Given the description of an element on the screen output the (x, y) to click on. 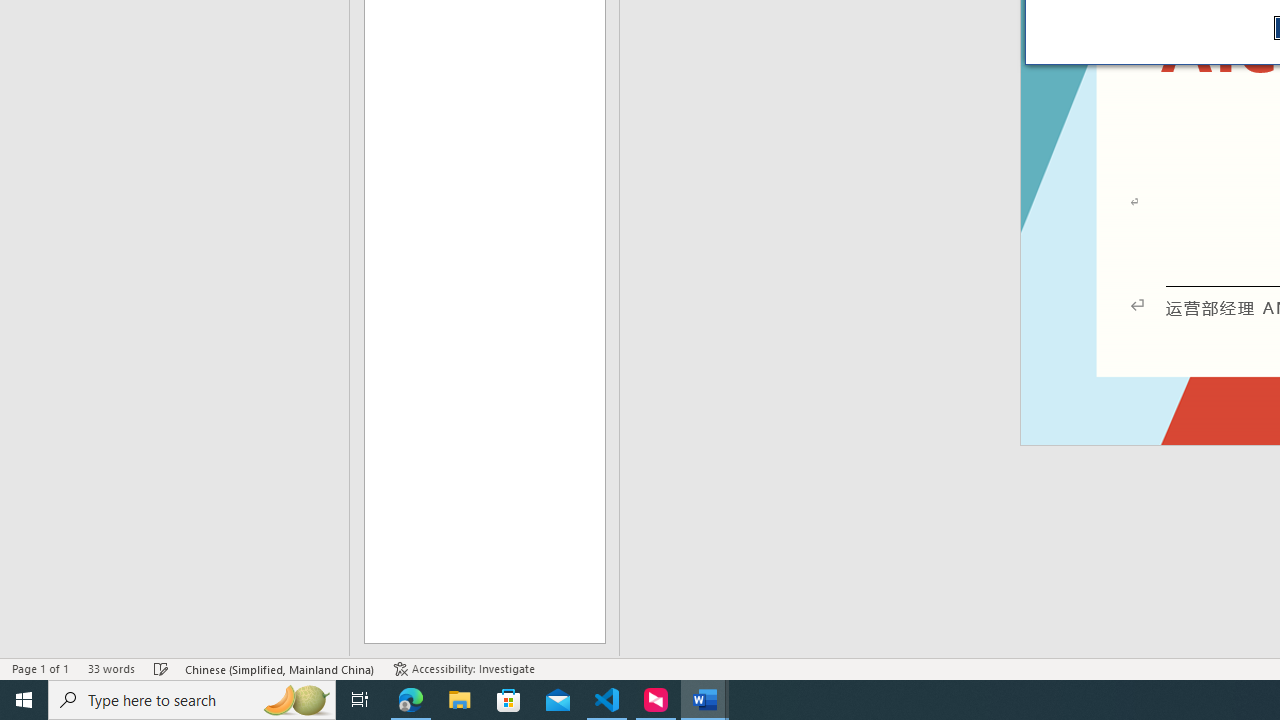
File Explorer (460, 699)
Page Number Page 1 of 1 (39, 668)
Microsoft Edge - 1 running window (411, 699)
